Given the description of an element on the screen output the (x, y) to click on. 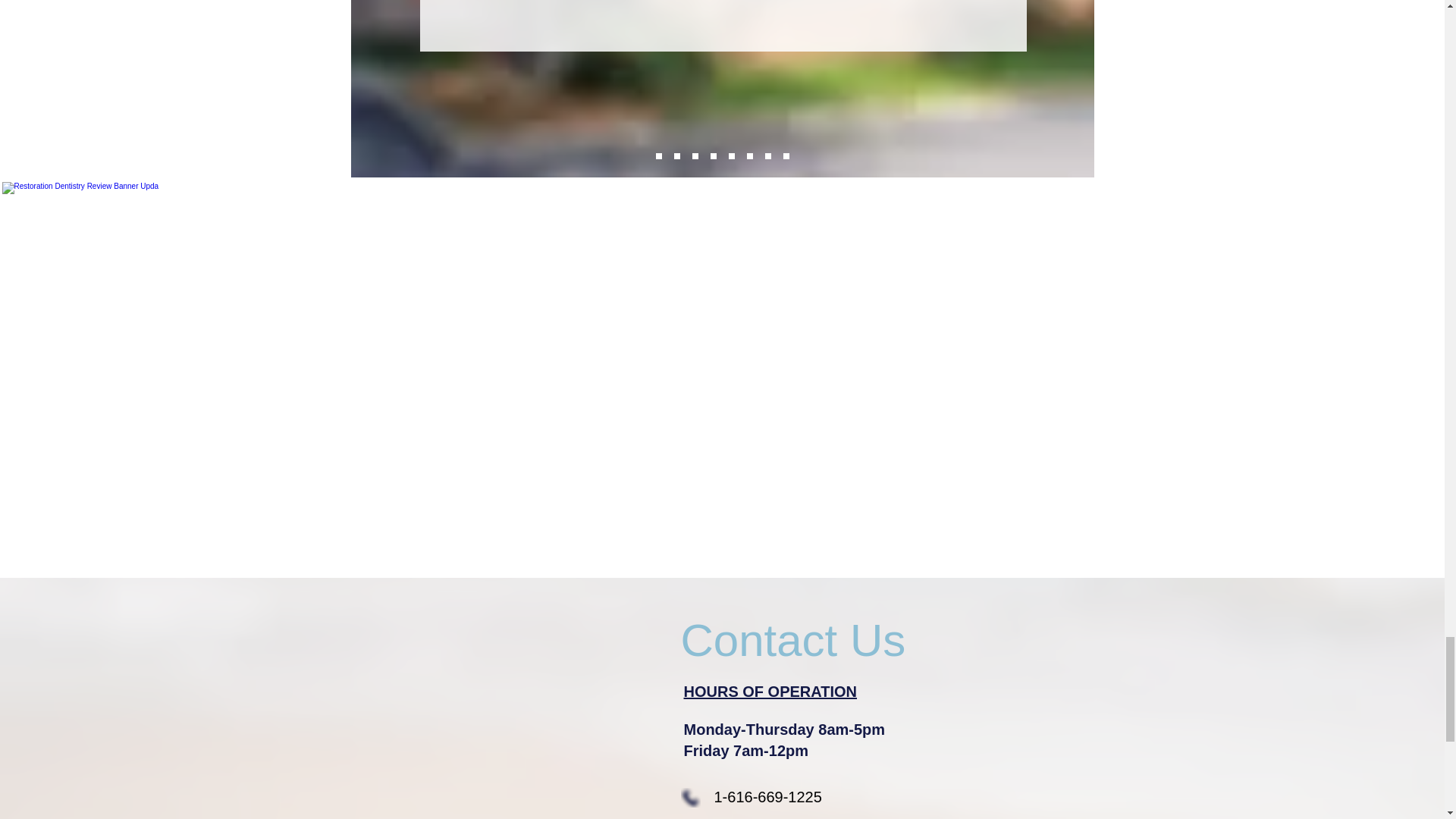
HOURS OF OPERATION (770, 691)
